Given the description of an element on the screen output the (x, y) to click on. 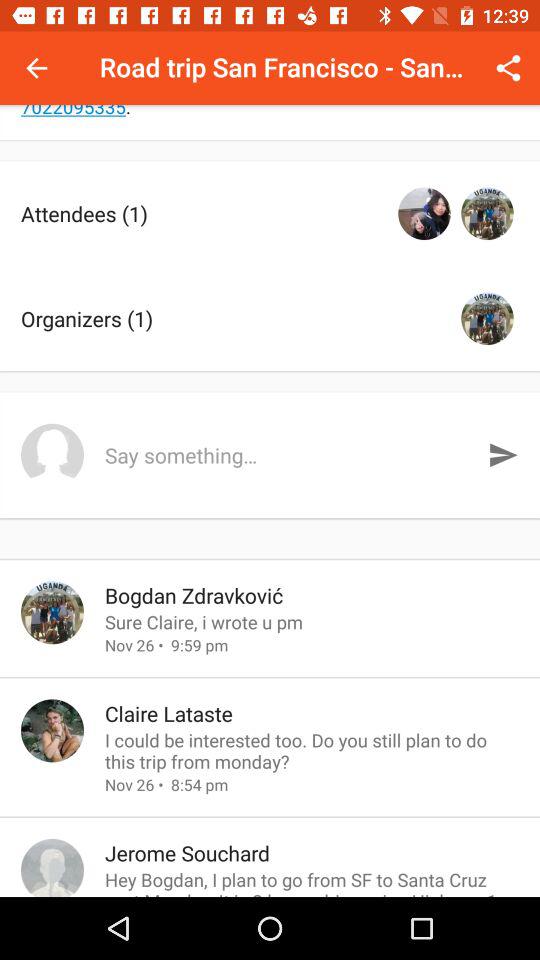
click icon above nov 26 8 icon (312, 750)
